Given the description of an element on the screen output the (x, y) to click on. 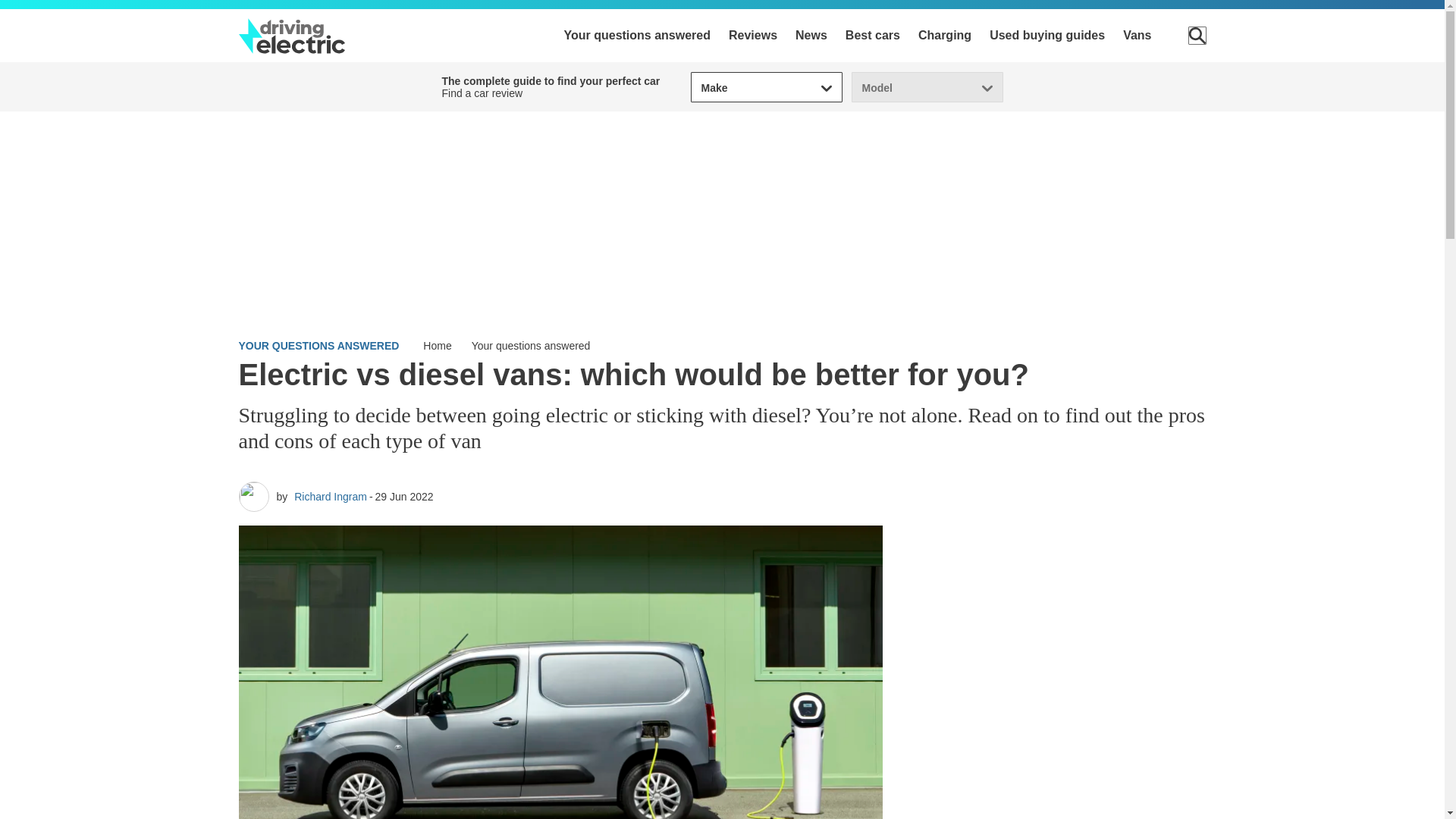
SEARCH (1196, 35)
Best cars (872, 35)
Charging (944, 35)
Reviews (753, 35)
Used buying guides (1047, 35)
Search (1196, 35)
Your questions answered (636, 35)
